Given the description of an element on the screen output the (x, y) to click on. 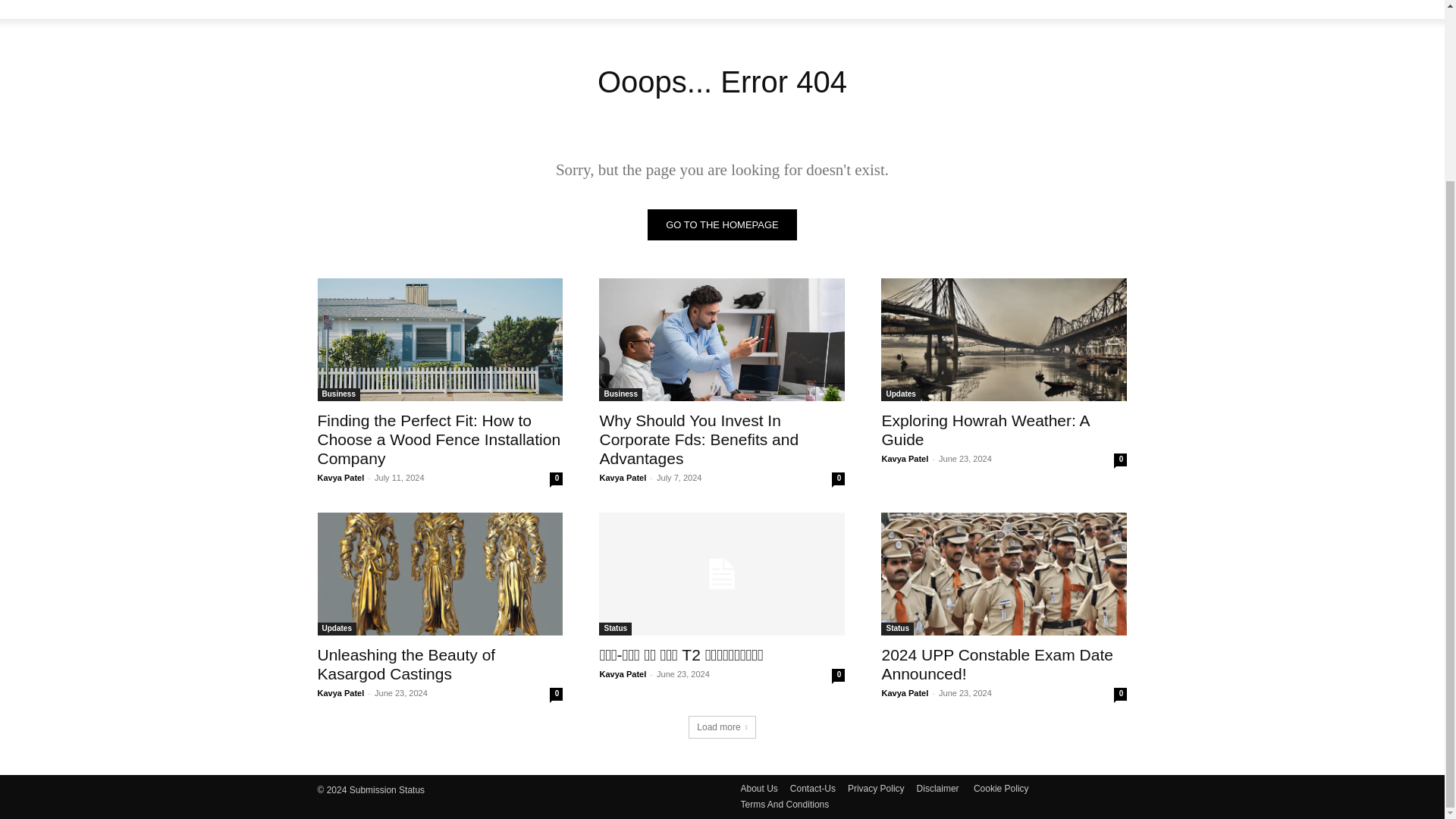
Business (338, 394)
GO TO THE HOMEPAGE (721, 224)
Kavya Patel (340, 477)
Go to the homepage (721, 224)
Exploring Howrah Weather: A Guide (1003, 339)
